Given the description of an element on the screen output the (x, y) to click on. 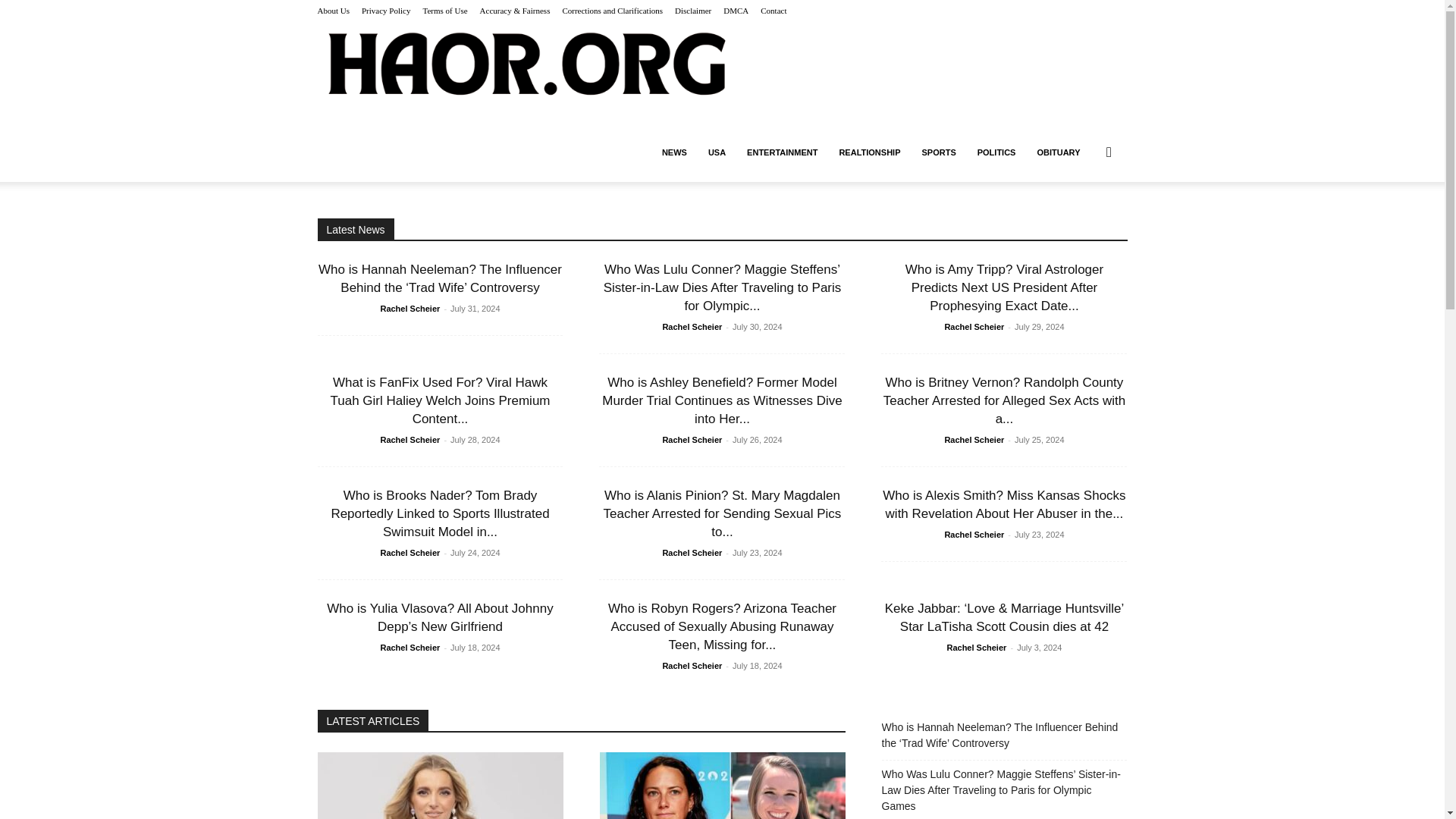
Rachel Scheier (409, 307)
POLITICS (996, 151)
Corrections and Clarifications (612, 10)
Terms of Use (444, 10)
Disclaimer (693, 10)
About Us (333, 10)
Rachel Scheier (692, 326)
